Given the description of an element on the screen output the (x, y) to click on. 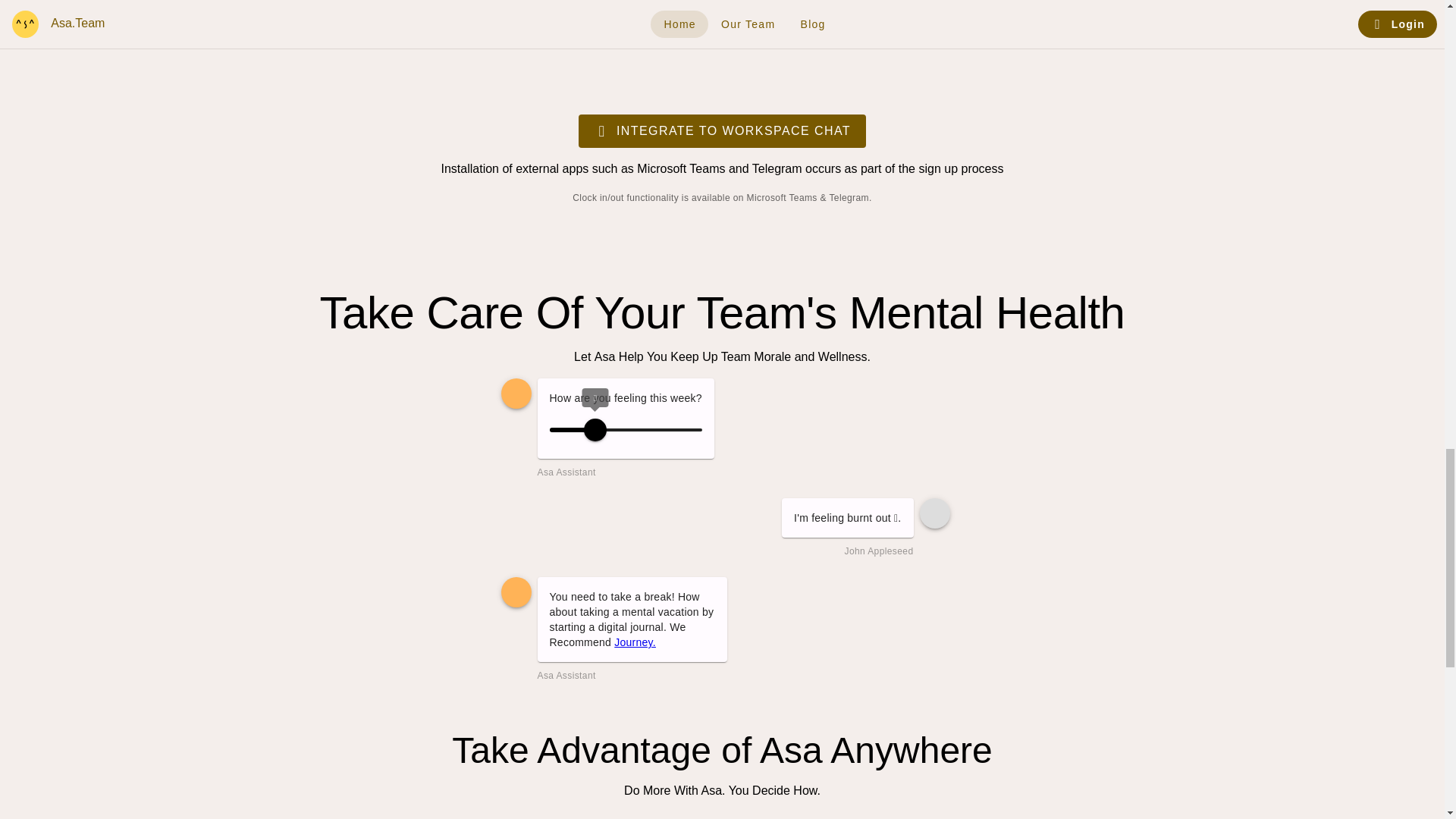
Journey. (635, 642)
INTEGRATE TO WORKSPACE CHAT (722, 131)
